Given the description of an element on the screen output the (x, y) to click on. 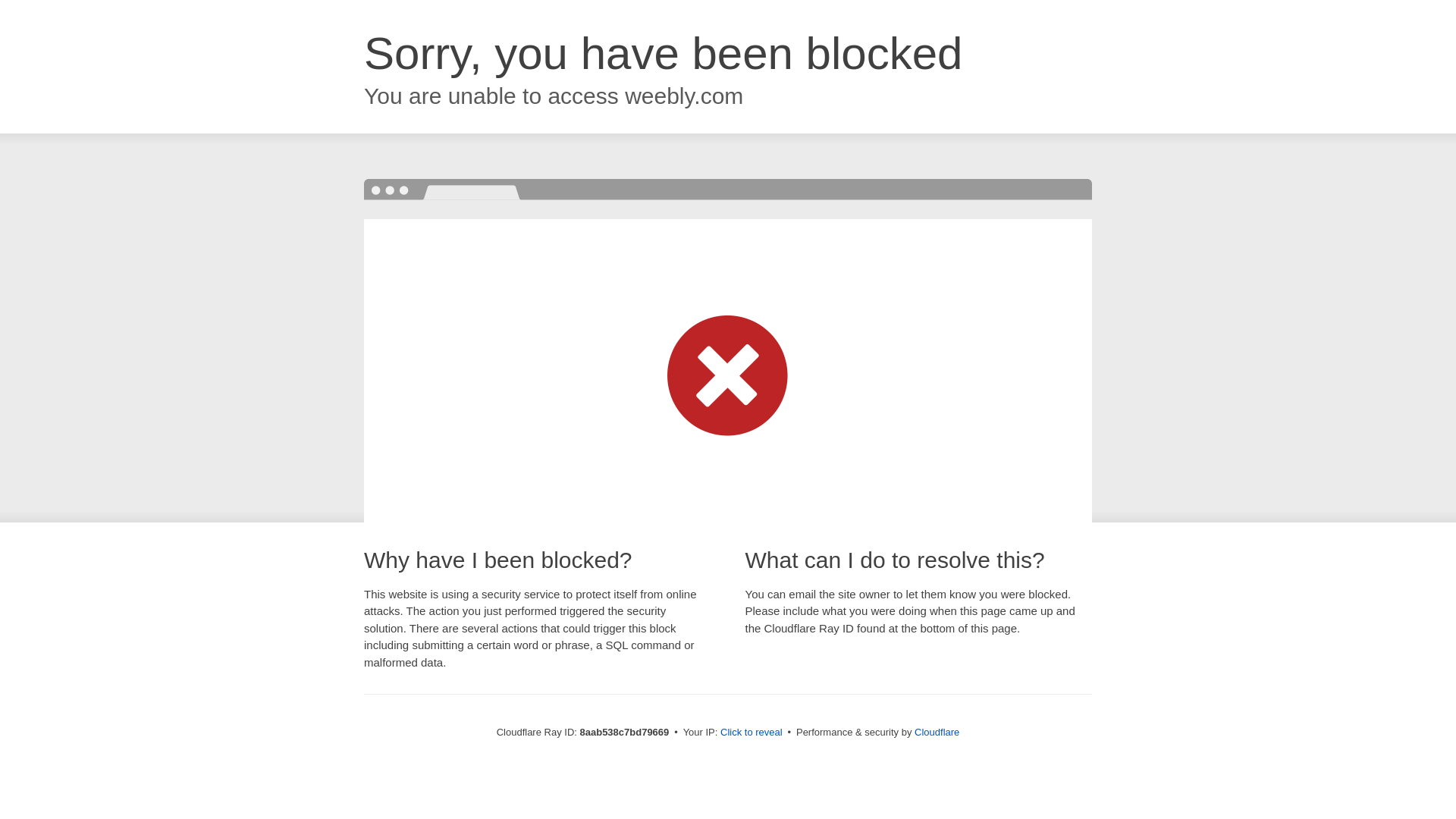
Cloudflare (936, 731)
Click to reveal (751, 732)
